Given the description of an element on the screen output the (x, y) to click on. 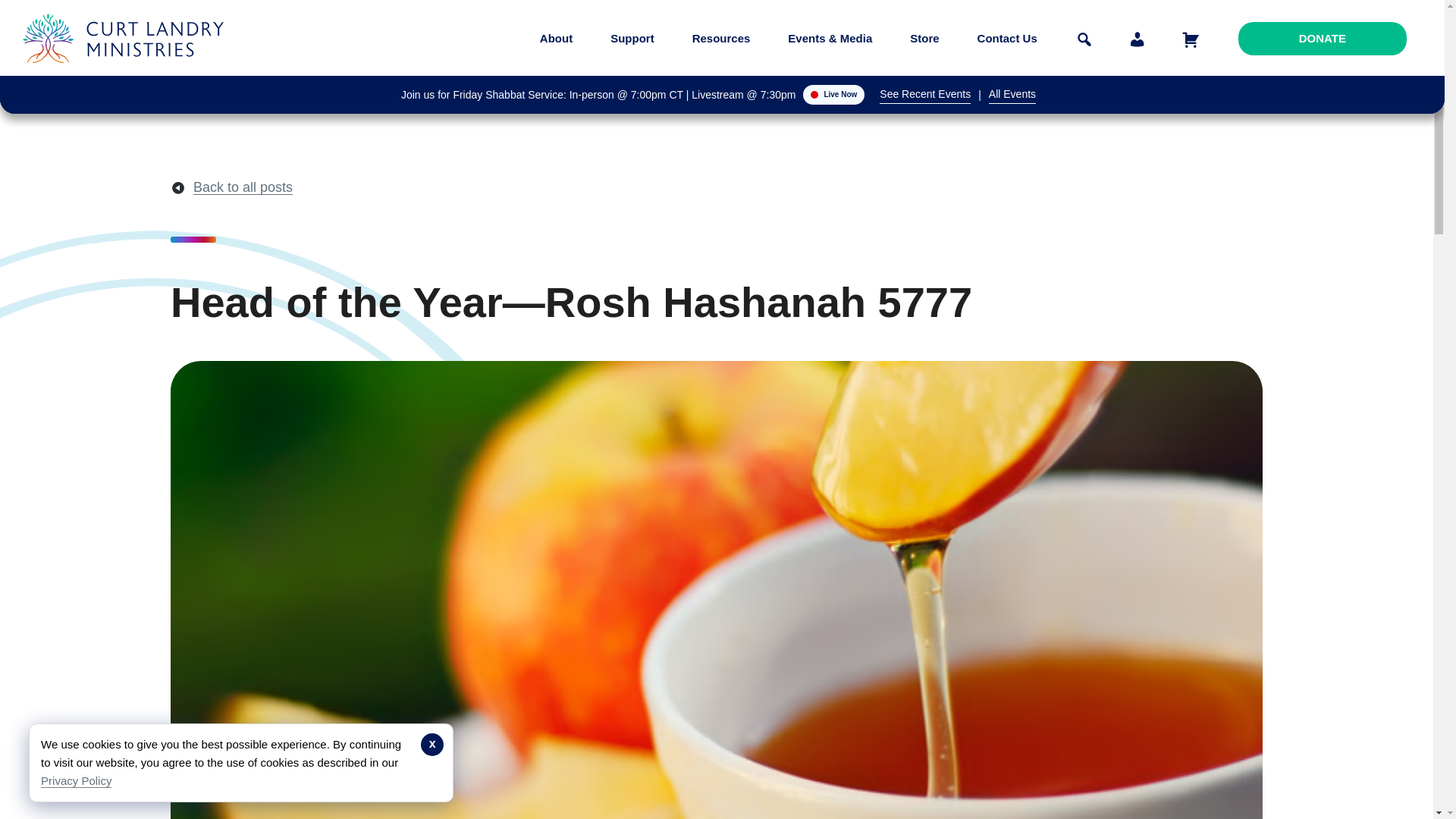
Support (631, 38)
Resources (721, 38)
Store (924, 38)
About (556, 38)
Curt Landry Ministries (127, 74)
